Given the description of an element on the screen output the (x, y) to click on. 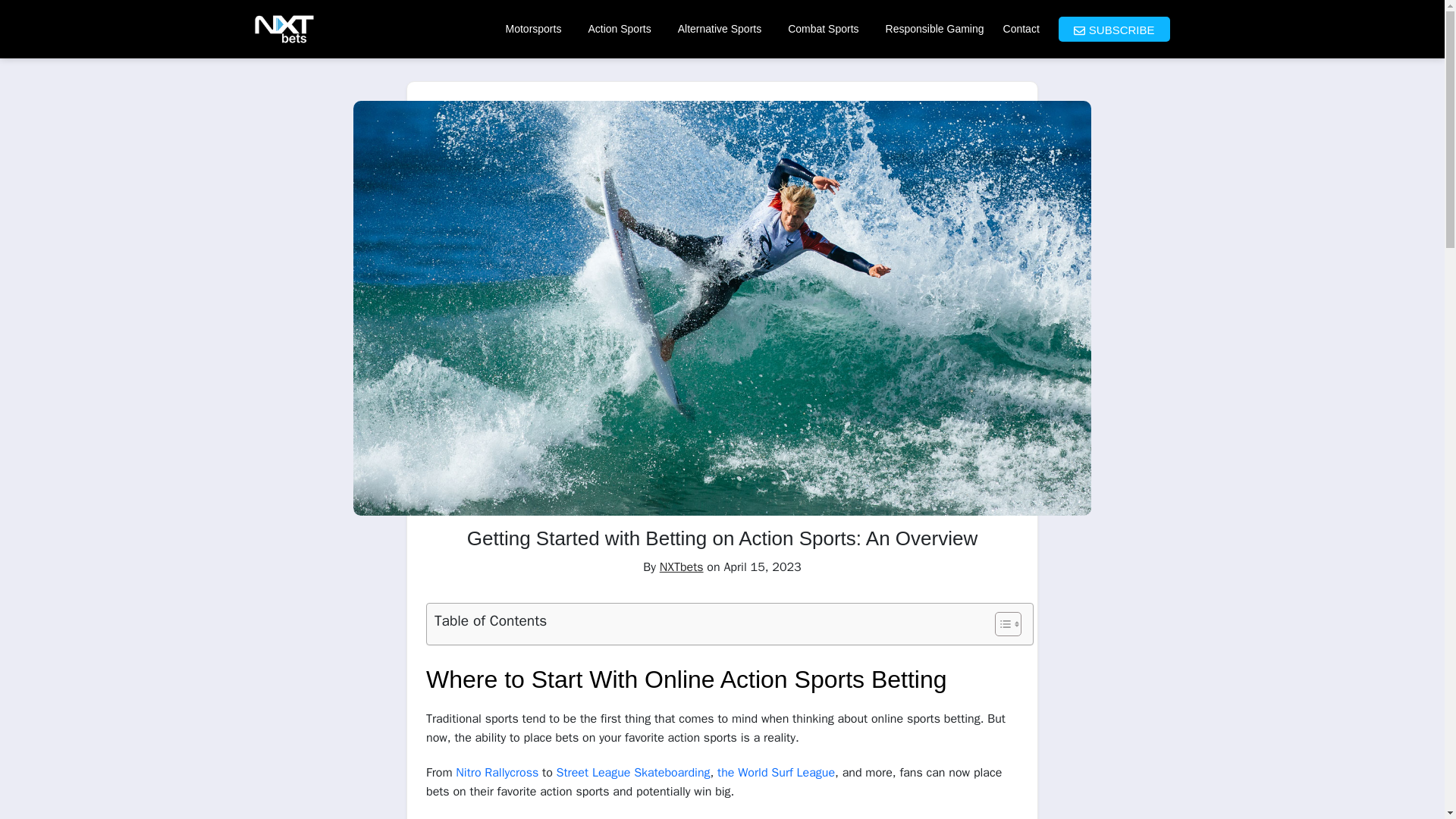
Alternative Sports (723, 29)
Motorsports (536, 29)
Posts by NXTbets (681, 566)
Action Sports (622, 29)
SUBSCRIBE (1114, 29)
Responsible Gaming (934, 29)
Combat Sports (826, 29)
Contact (1020, 29)
